Given the description of an element on the screen output the (x, y) to click on. 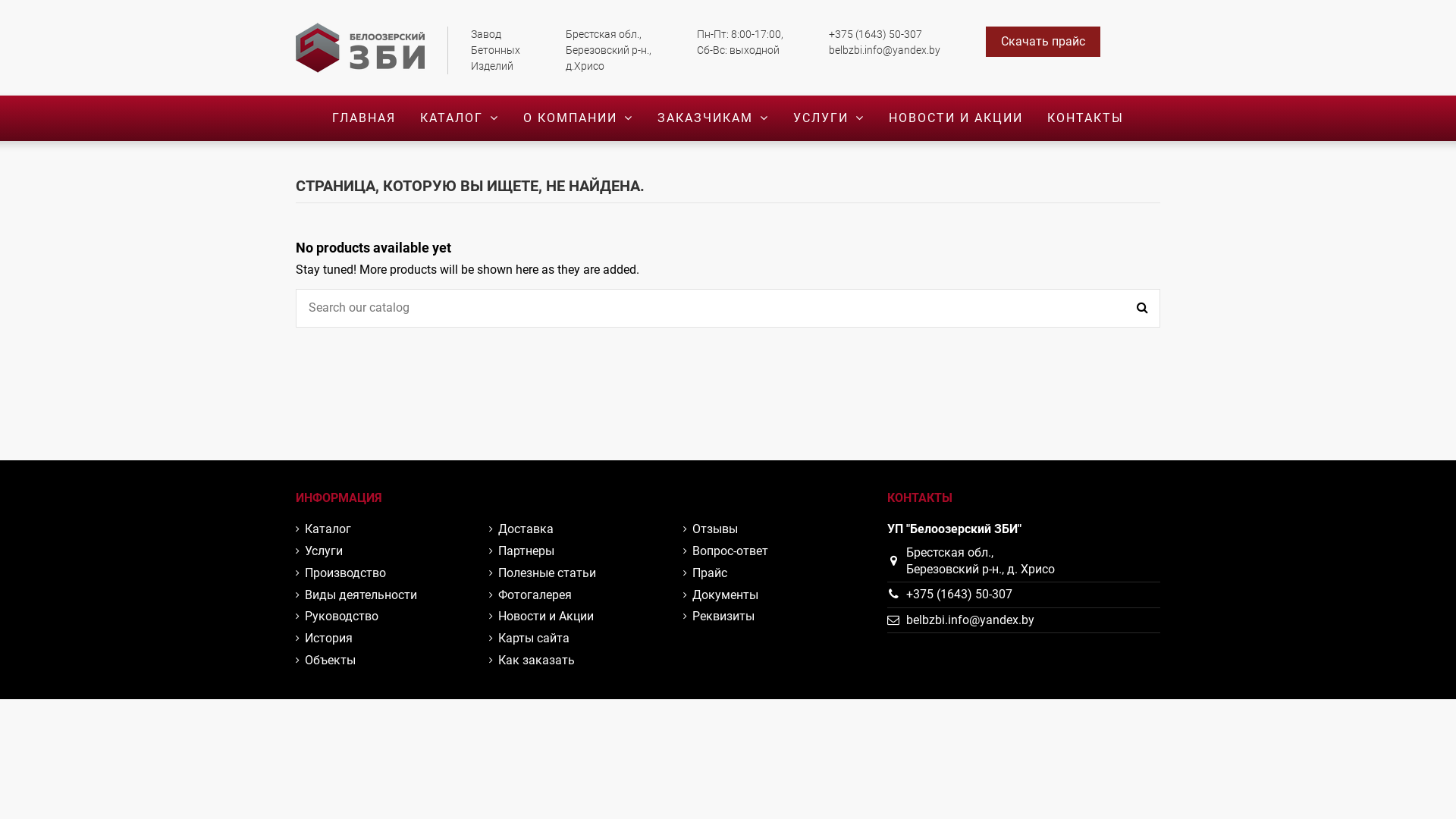
+375 (1643) 50-307 Element type: text (959, 593)
belbzbi.info@yandex.by Element type: text (970, 619)
